Given the description of an element on the screen output the (x, y) to click on. 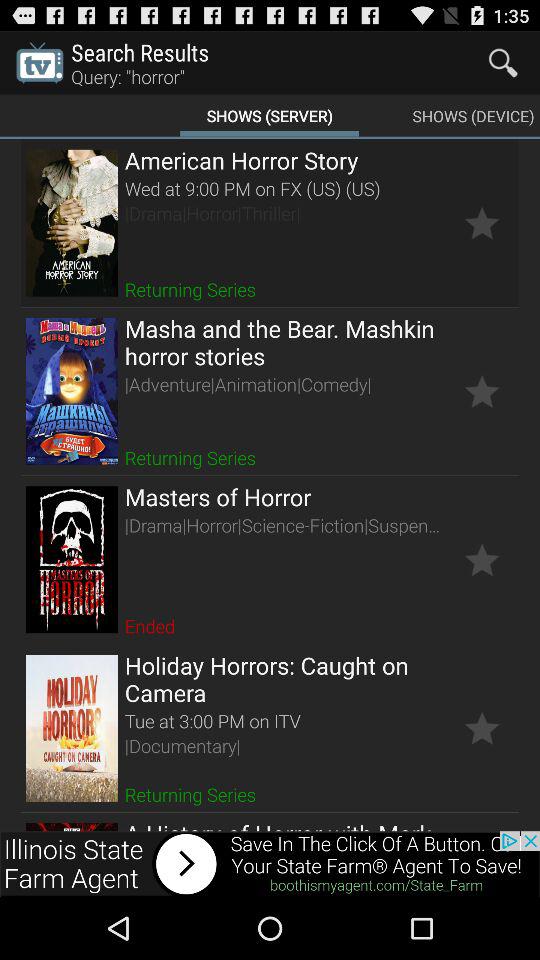
advertisement link (270, 864)
